Given the description of an element on the screen output the (x, y) to click on. 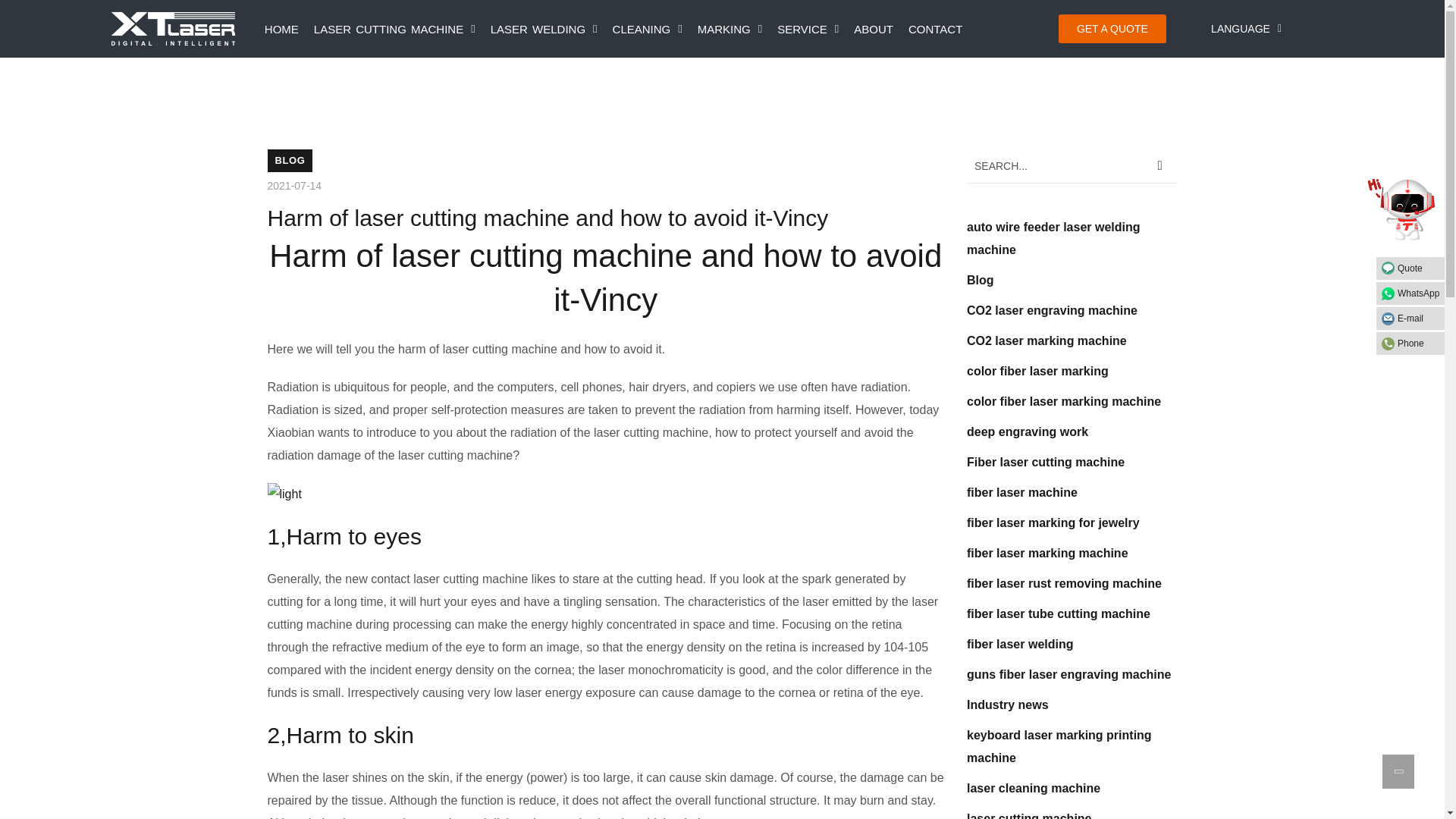
SERVICE (807, 29)
MARKING (730, 29)
LASER WELDING (544, 29)
ABOUT (873, 29)
HOME (281, 29)
CLEANING (647, 29)
CONTACT (935, 29)
LASER CUTTING MACHINE (394, 29)
